Given the description of an element on the screen output the (x, y) to click on. 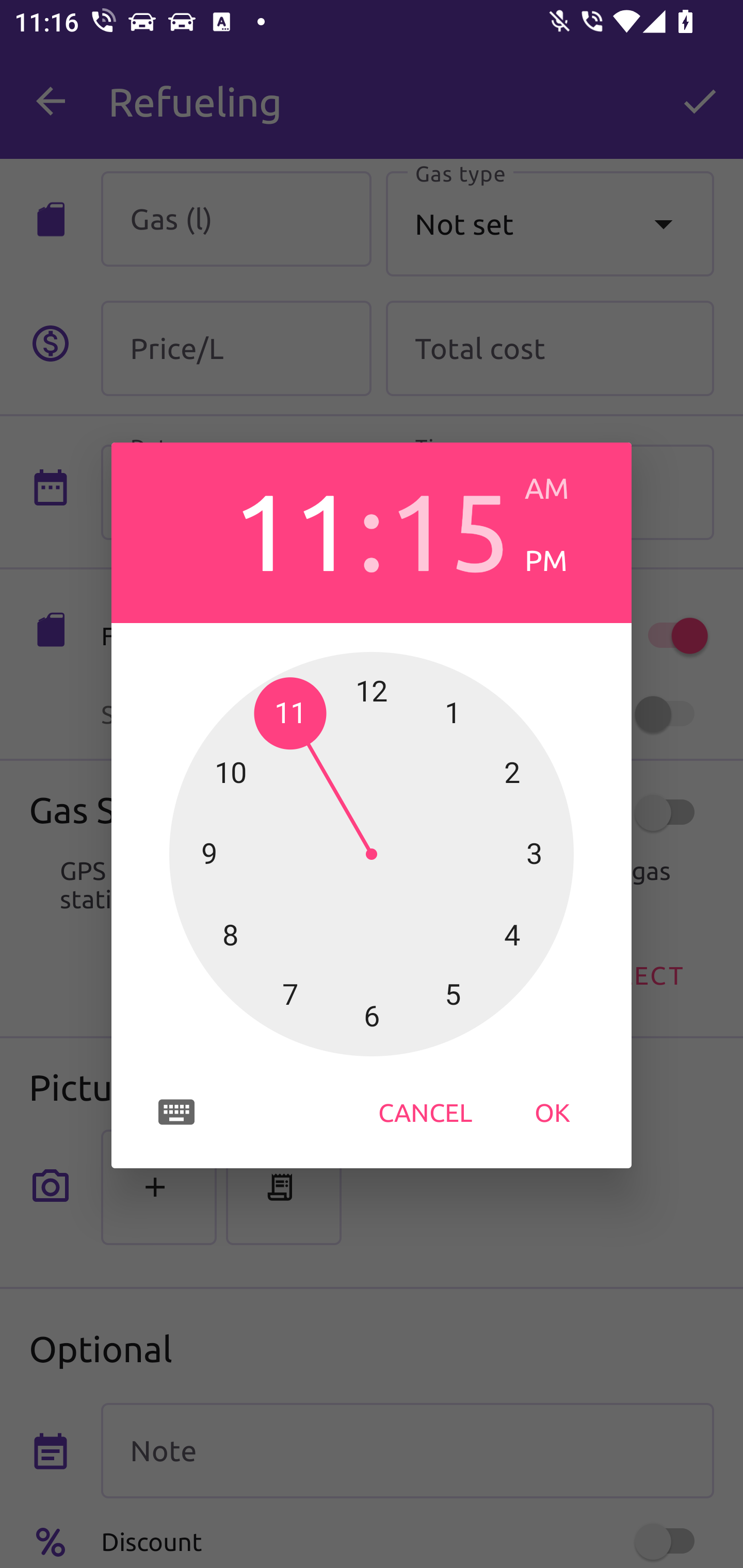
AM (563, 488)
11 (293, 528)
15 (449, 528)
PM (563, 560)
CANCEL (425, 1111)
OK (552, 1111)
Switch to text input mode for the time input. (175, 1112)
